Given the description of an element on the screen output the (x, y) to click on. 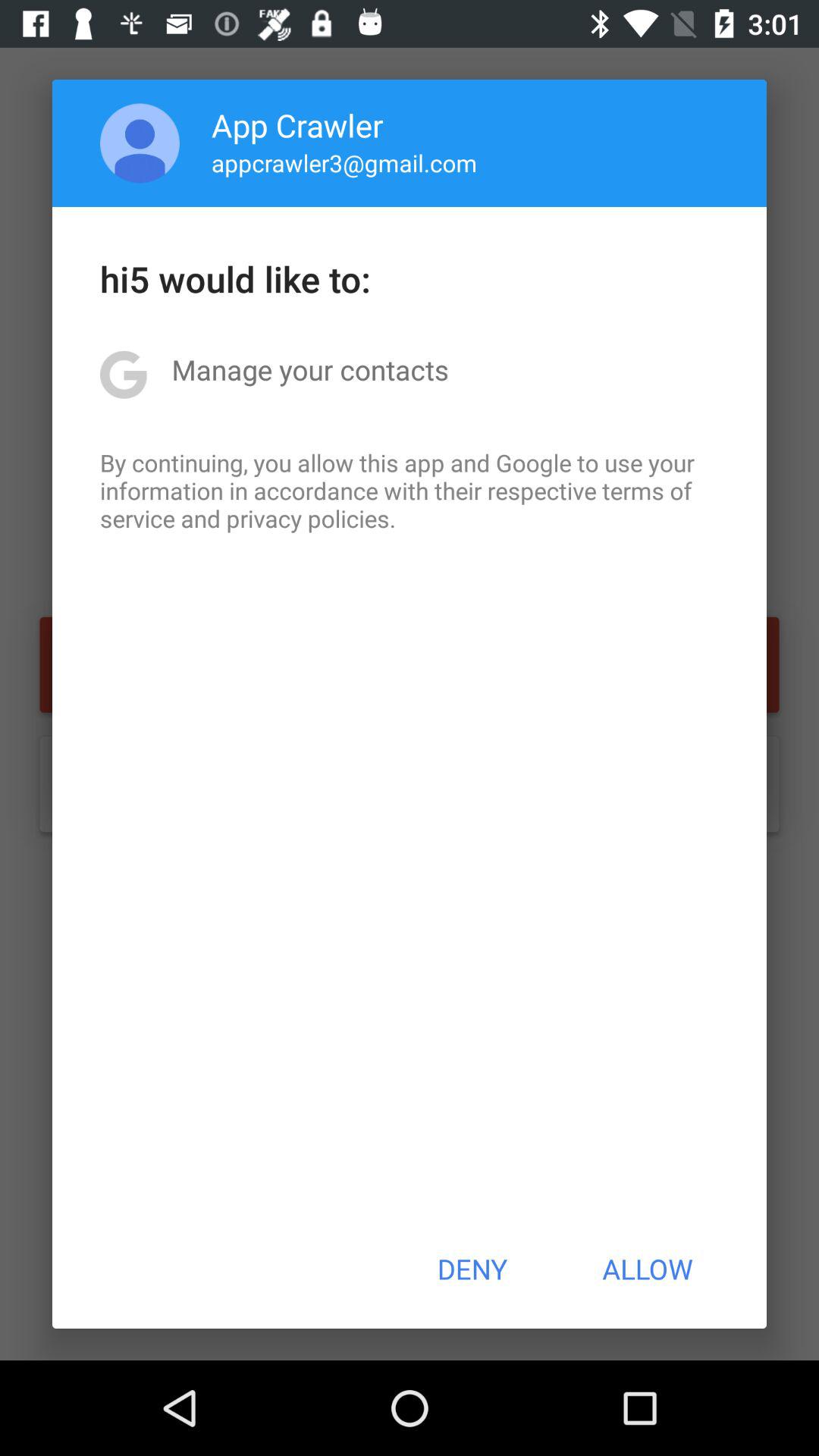
press icon below hi5 would like app (309, 369)
